Given the description of an element on the screen output the (x, y) to click on. 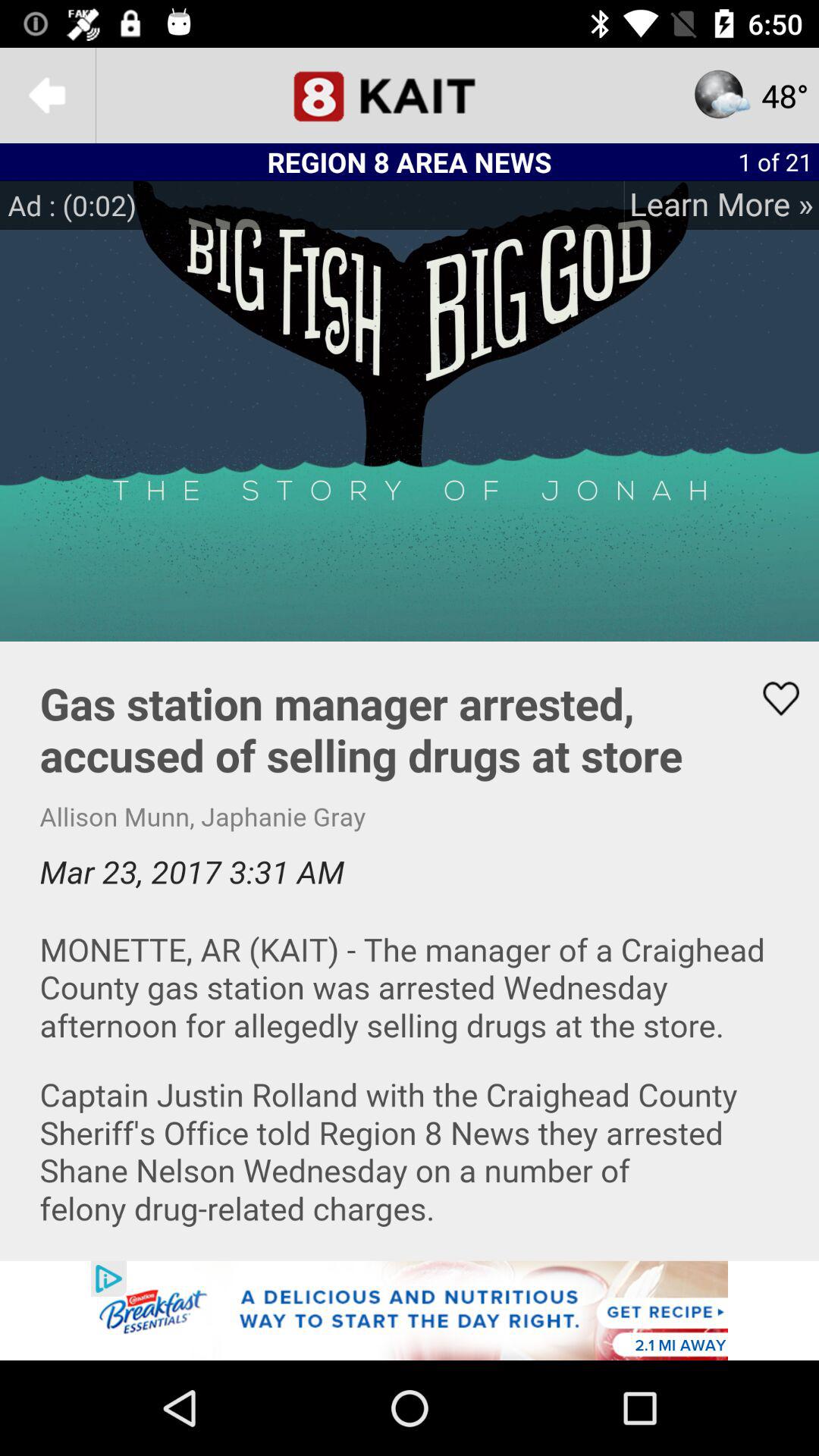
like the article (771, 698)
